Given the description of an element on the screen output the (x, y) to click on. 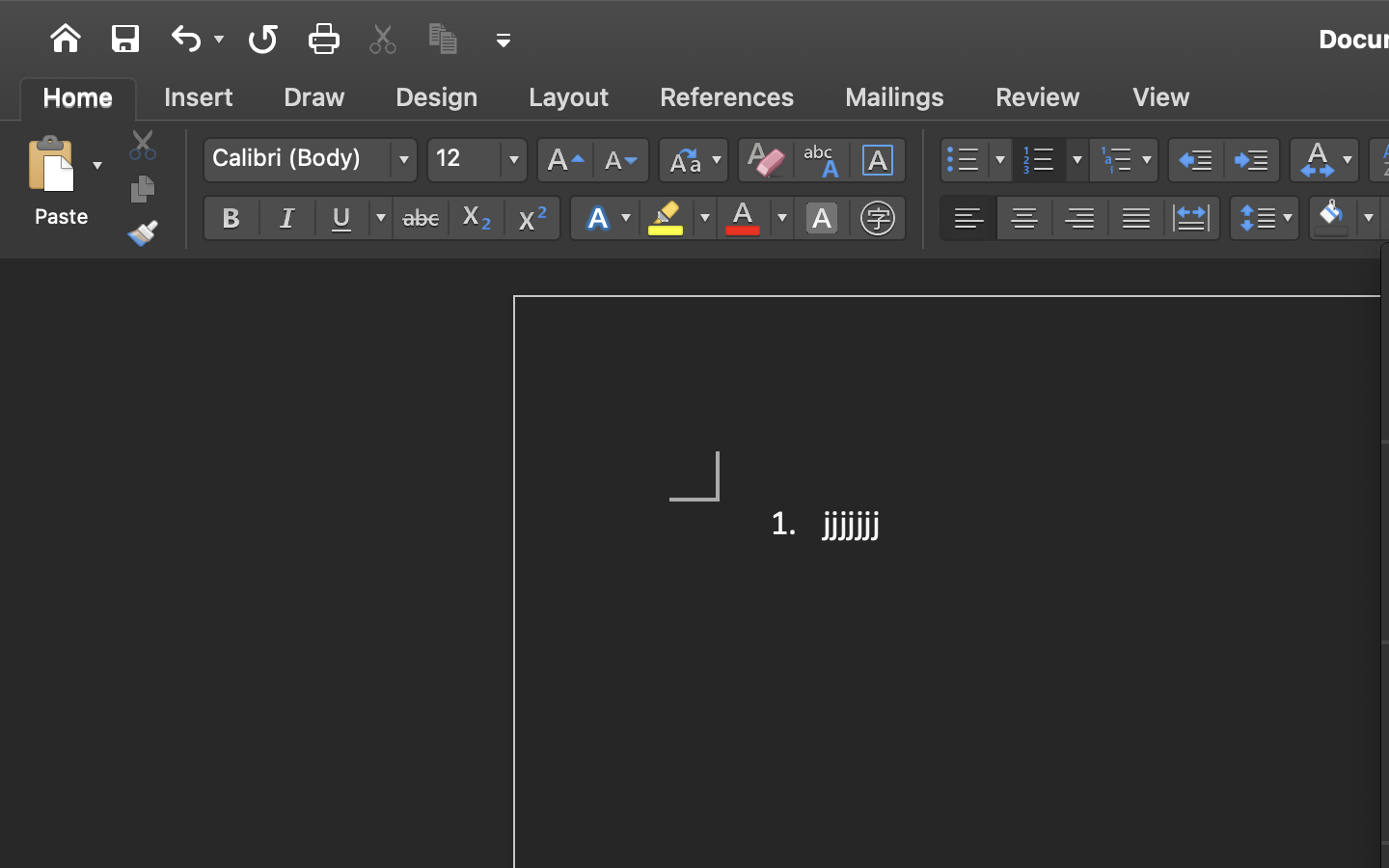
0 Element type: AXRadioButton (726, 97)
